Given the description of an element on the screen output the (x, y) to click on. 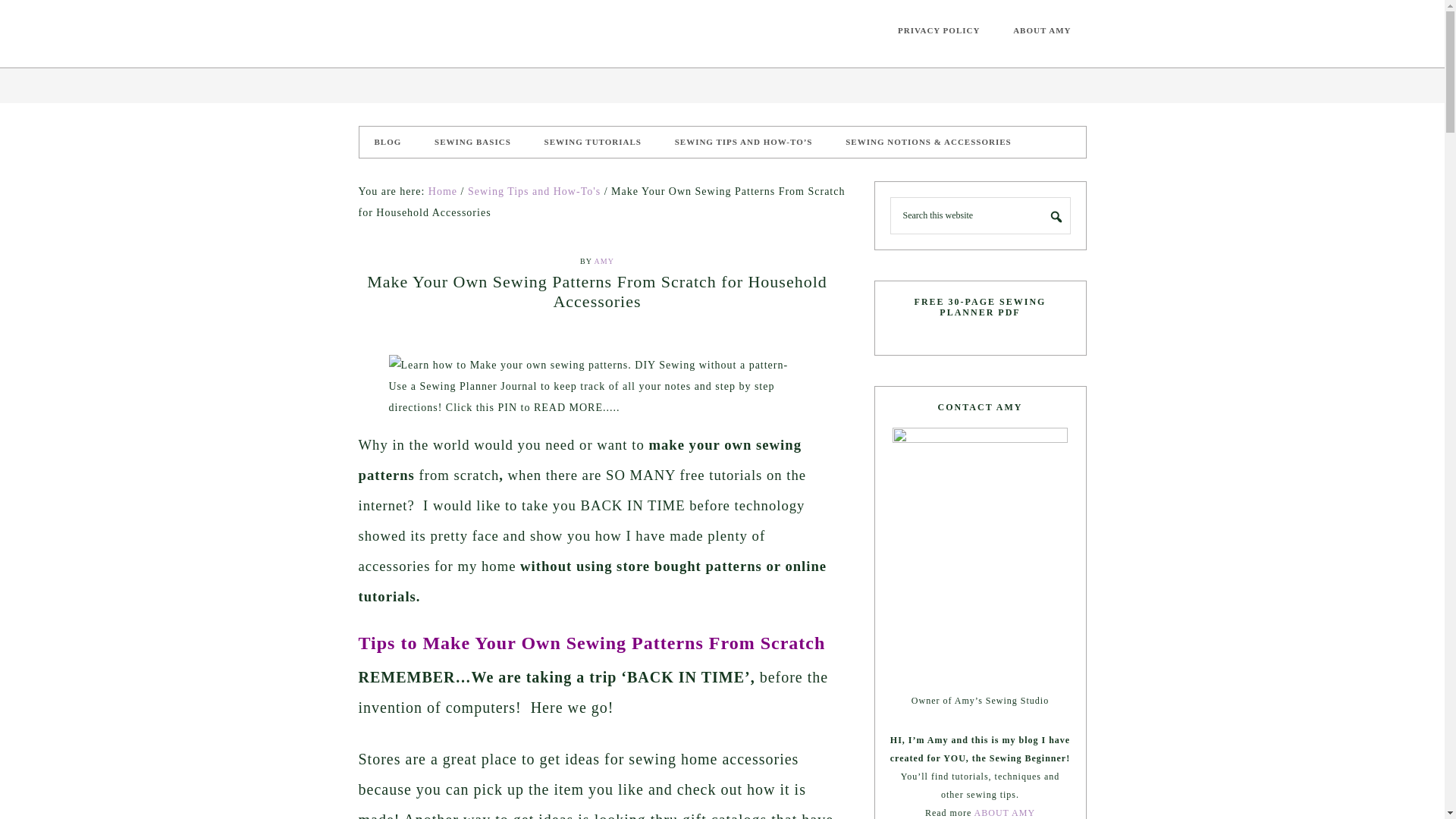
PRIVACY POLICY (938, 30)
SEWING BASICS (472, 142)
AMY (604, 261)
Sewing Tips and How-To's (533, 191)
BLOG (387, 142)
ABOUT AMY (1004, 812)
SEWING TUTORIALS (592, 142)
AMYS SEWING STUDIO (471, 32)
Home (442, 191)
ABOUT AMY (1041, 30)
